Given the description of an element on the screen output the (x, y) to click on. 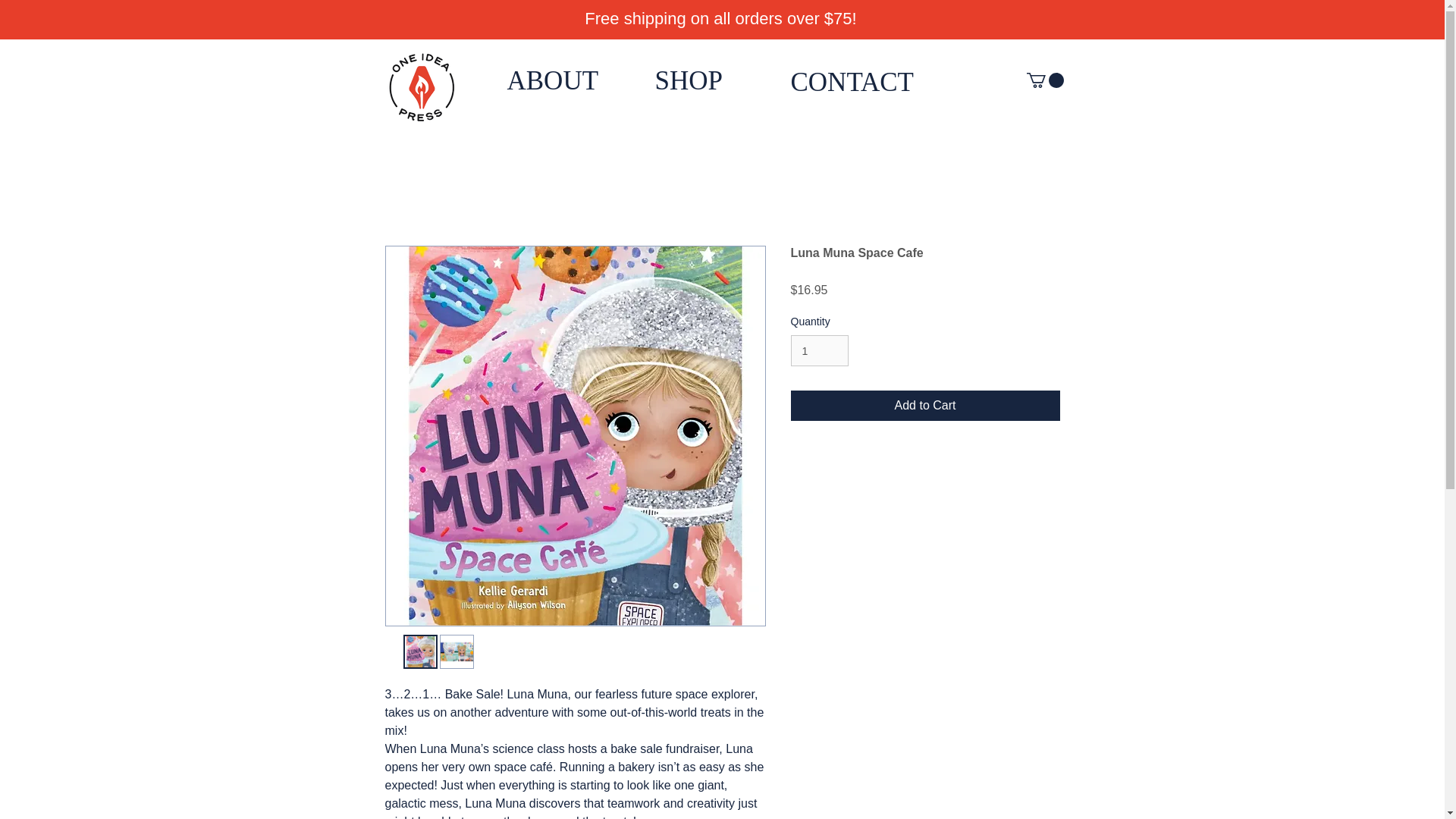
CONTACT (851, 82)
SHOP (688, 80)
ABOUT (552, 80)
1 (818, 350)
Add to Cart (924, 405)
